Given the description of an element on the screen output the (x, y) to click on. 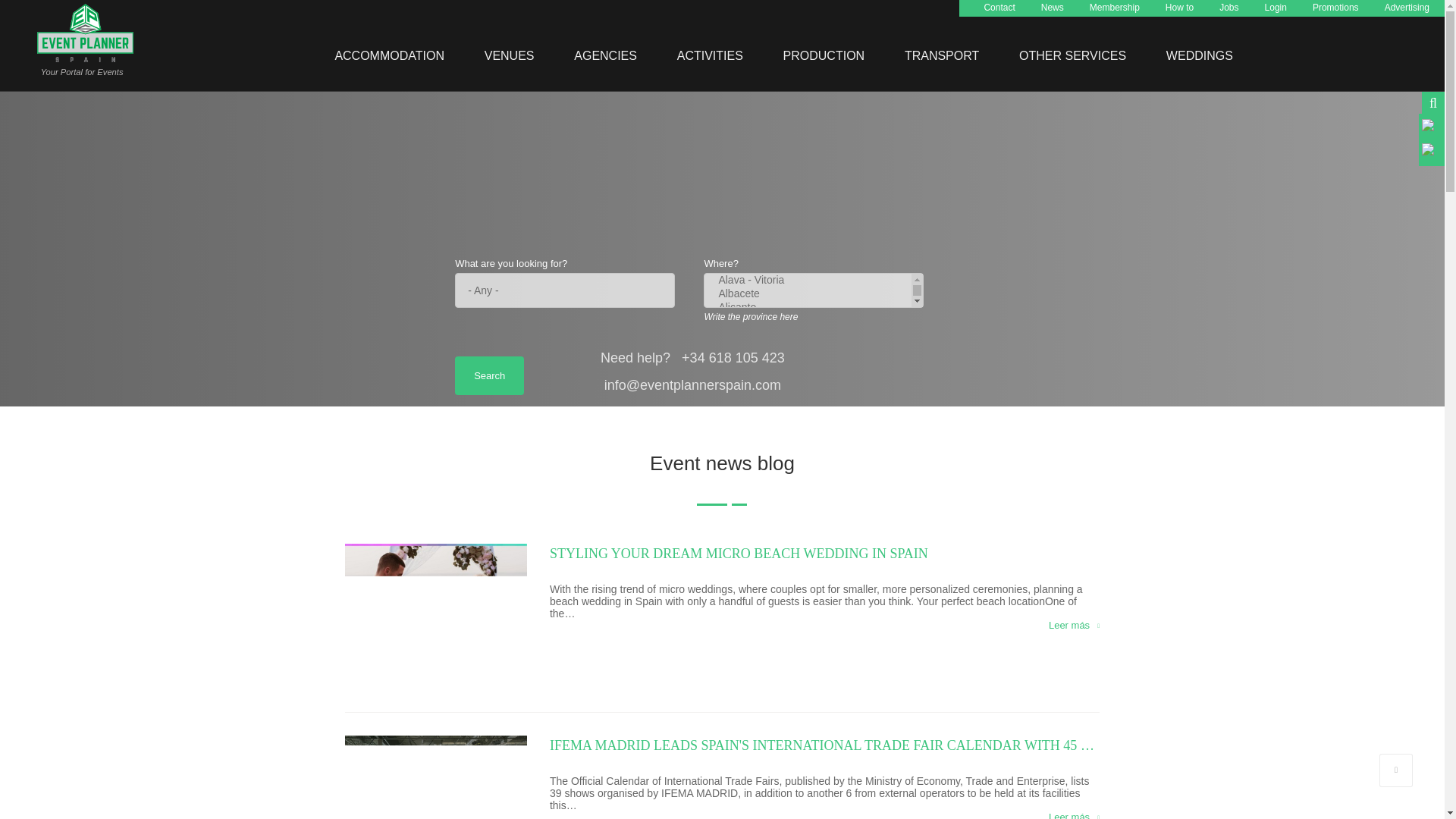
Click here to log into your microsite (1276, 7)
News (1052, 7)
VENUES (510, 54)
AGENCIES (606, 54)
Advertising (1406, 7)
Promotions (1335, 7)
Jobs (1229, 7)
Contact (999, 7)
French (1430, 152)
ACCOMMODATION (390, 54)
Membership (1114, 7)
How to (1179, 7)
Search (489, 375)
Login (1276, 7)
